Given the description of an element on the screen output the (x, y) to click on. 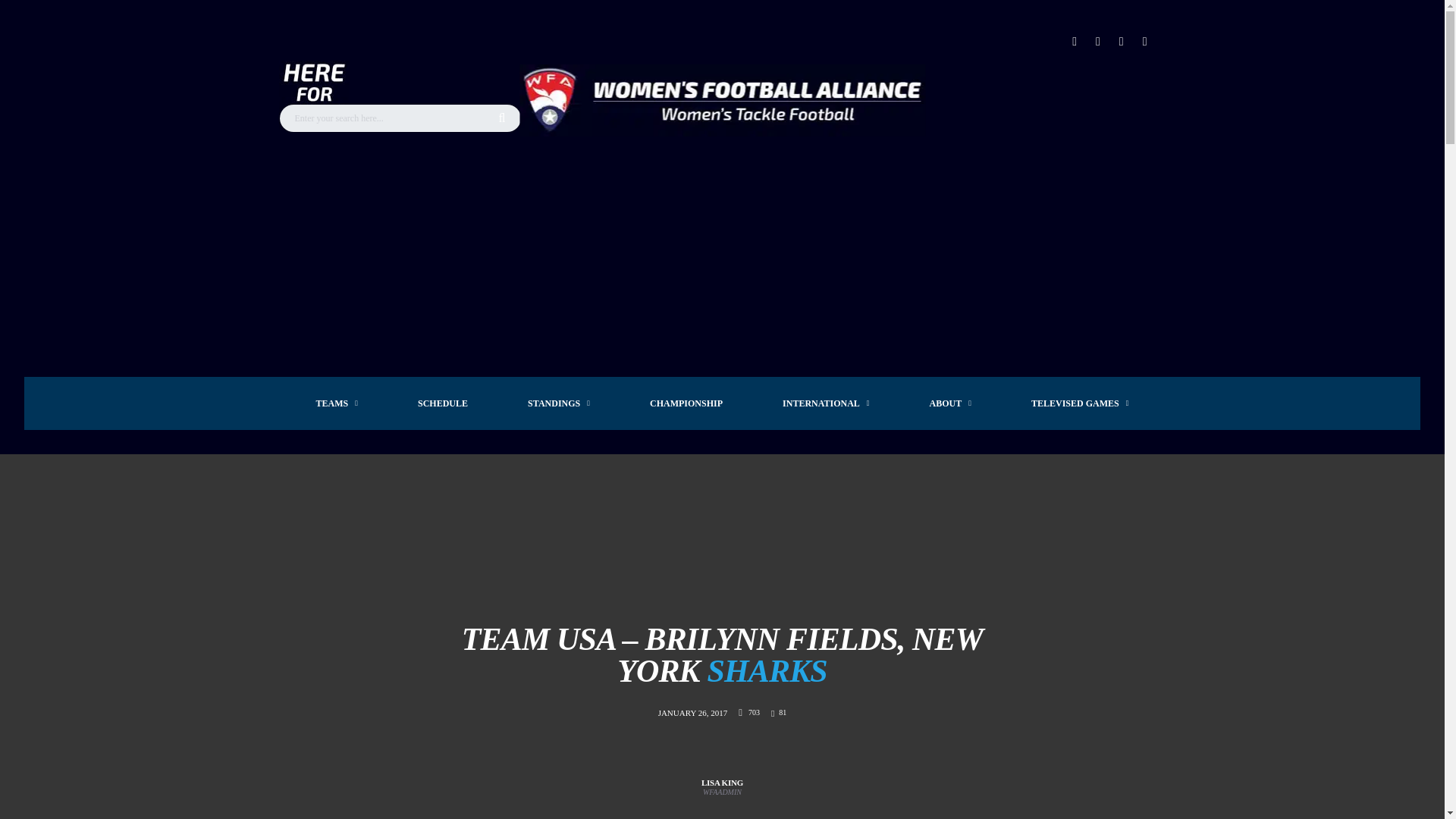
INTERNATIONAL (826, 402)
CHAMPIONSHIP (686, 402)
Women's Football Alliance (721, 100)
SCHEDULE (442, 402)
STANDINGS (558, 402)
TEAMS (336, 402)
Like (778, 713)
ABOUT (950, 402)
